Given the description of an element on the screen output the (x, y) to click on. 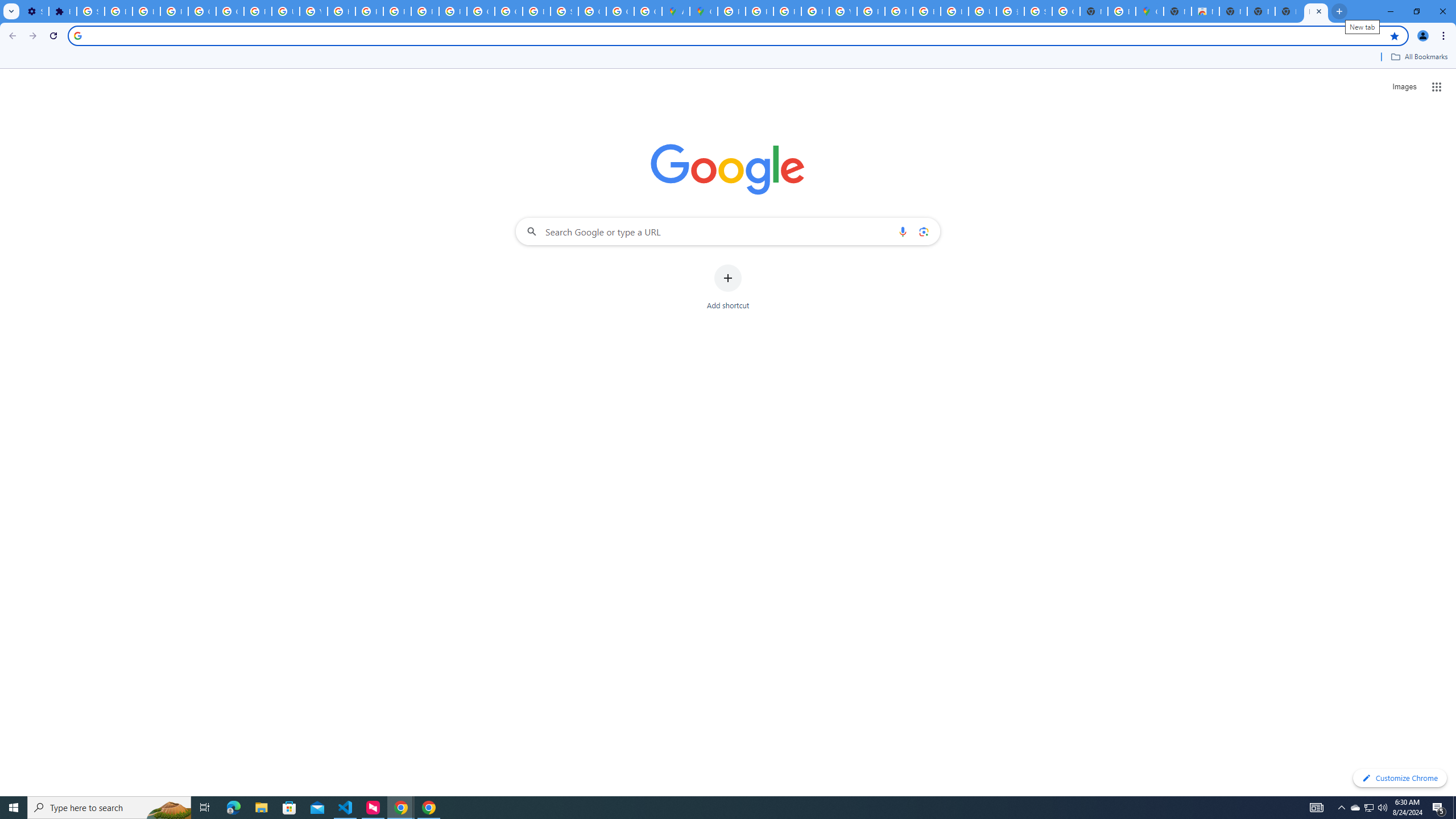
Search for Images  (1403, 87)
Create your Google Account (647, 11)
YouTube (313, 11)
Search icon (77, 35)
Privacy Help Center - Policies Help (759, 11)
New Tab (1177, 11)
